Given the description of an element on the screen output the (x, y) to click on. 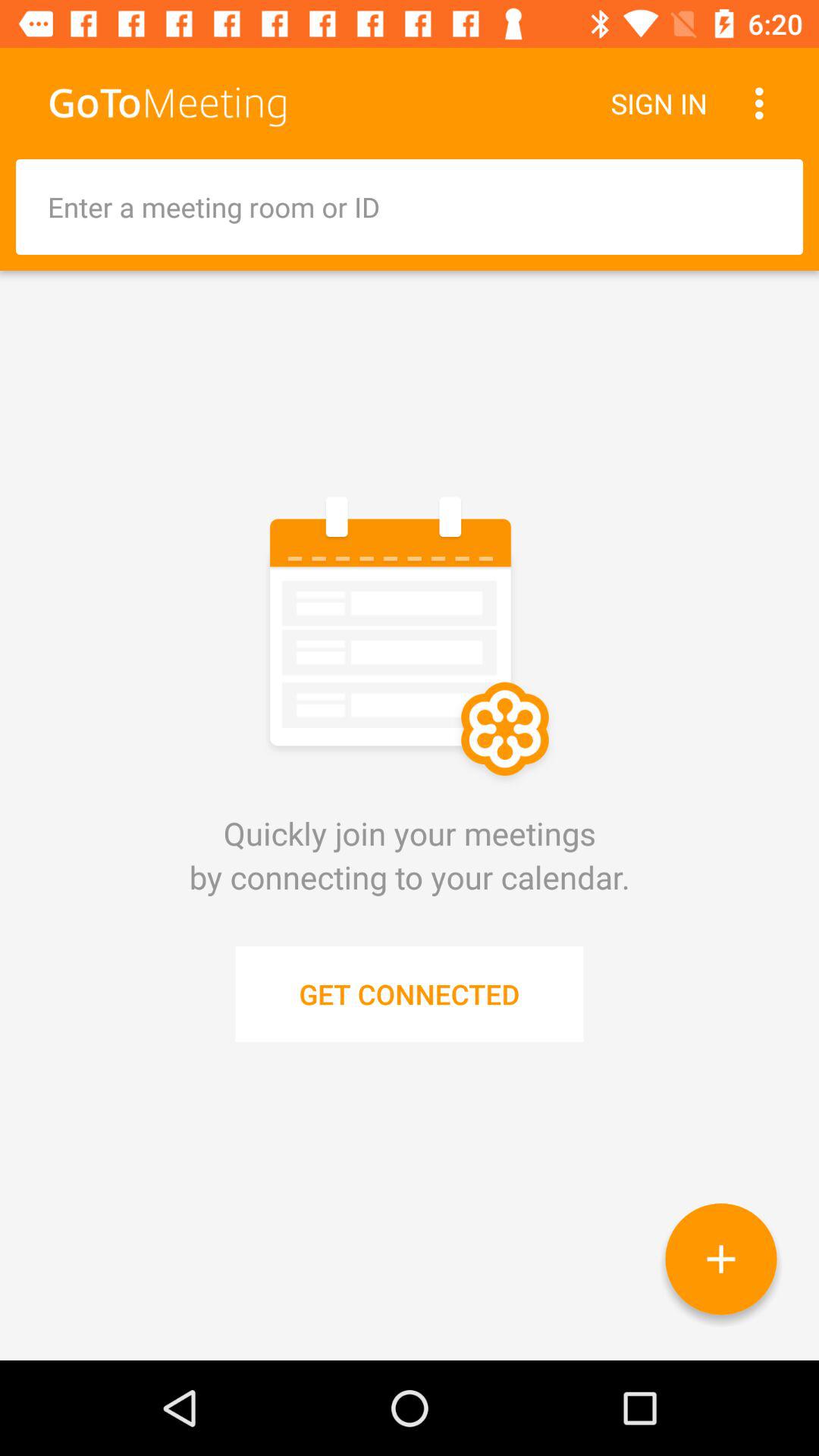
press the get connected (409, 993)
